Given the description of an element on the screen output the (x, y) to click on. 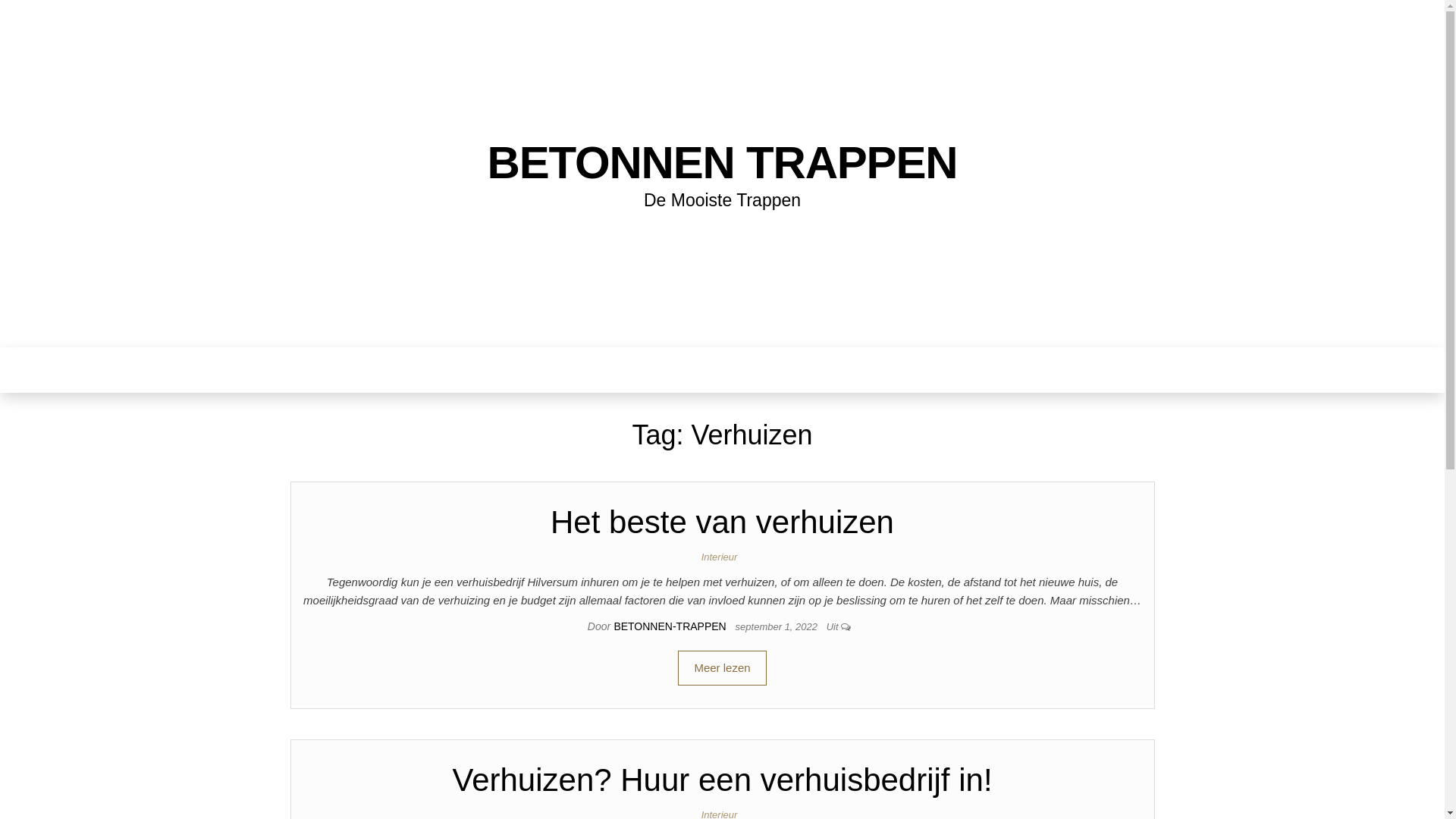
BETONNEN TRAPPEN Element type: text (722, 162)
Verhuizen? Huur een verhuisbedrijf in! Element type: text (721, 779)
Het beste van verhuizen Element type: text (722, 521)
Interieur Element type: text (722, 556)
BETONNEN-TRAPPEN Element type: text (670, 626)
Meer lezen Element type: text (721, 667)
